Given the description of an element on the screen output the (x, y) to click on. 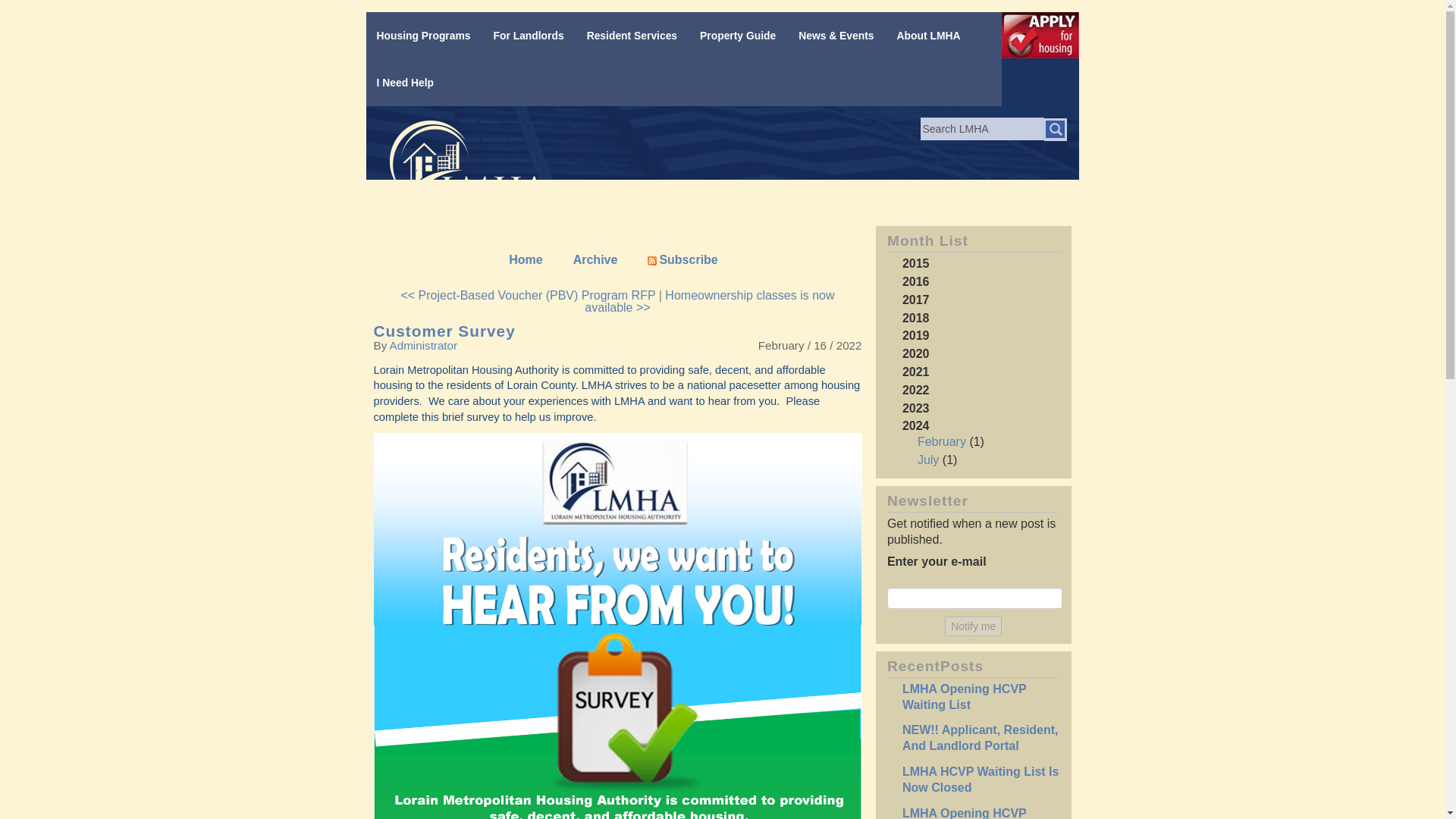
Notify me (972, 626)
Search LMHA (981, 128)
For Landlords (525, 35)
Resident Services (629, 35)
Search LMHA (981, 128)
Housing Programs (420, 35)
